Given the description of an element on the screen output the (x, y) to click on. 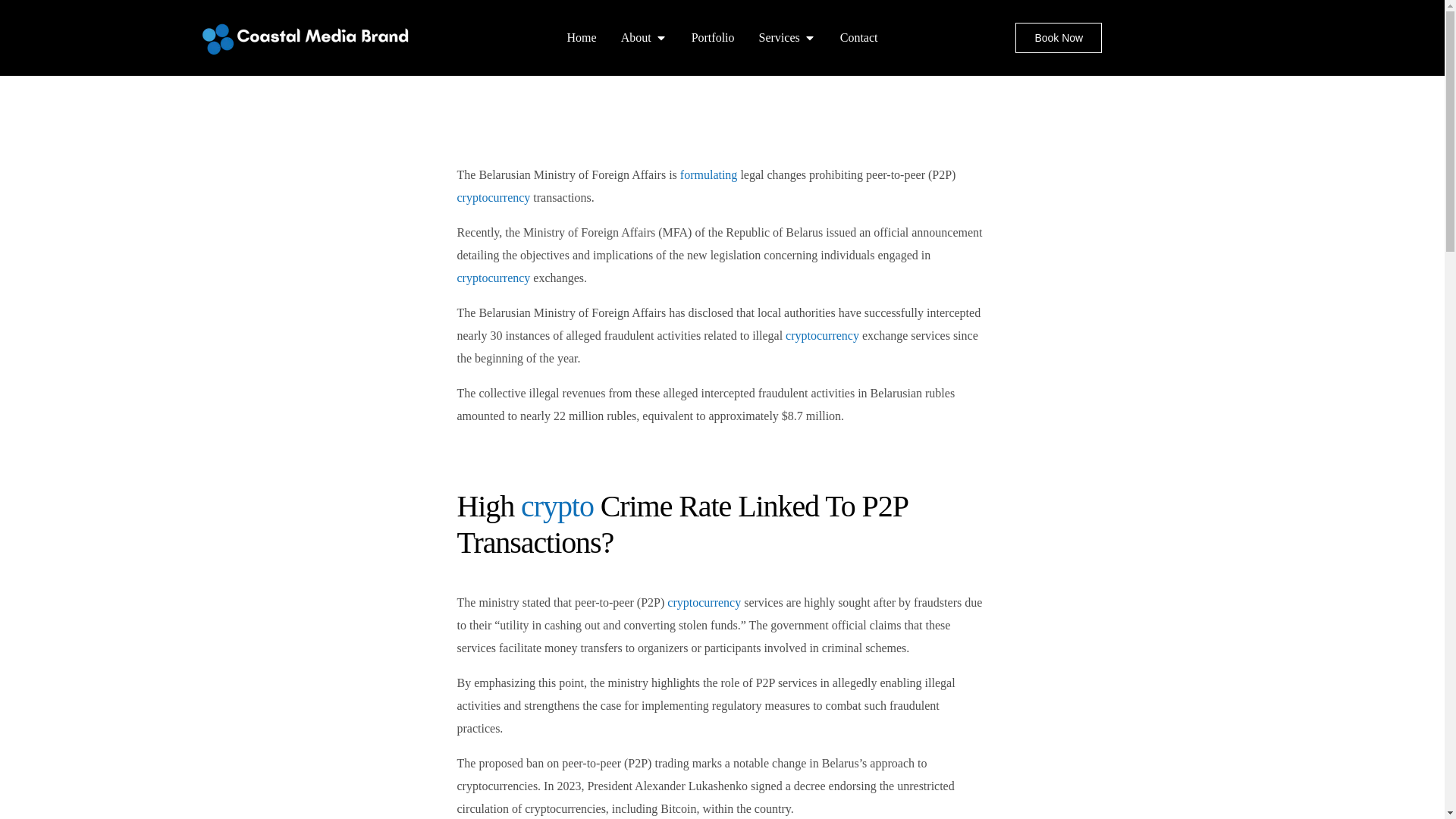
cryptocurrency (703, 602)
formulating (708, 174)
Book Now (1058, 37)
Home (581, 37)
Portfolio (713, 37)
cryptocurrency (493, 277)
Services (778, 37)
crypto (557, 505)
cryptocurrency (822, 335)
cryptocurrency (493, 196)
